Given the description of an element on the screen output the (x, y) to click on. 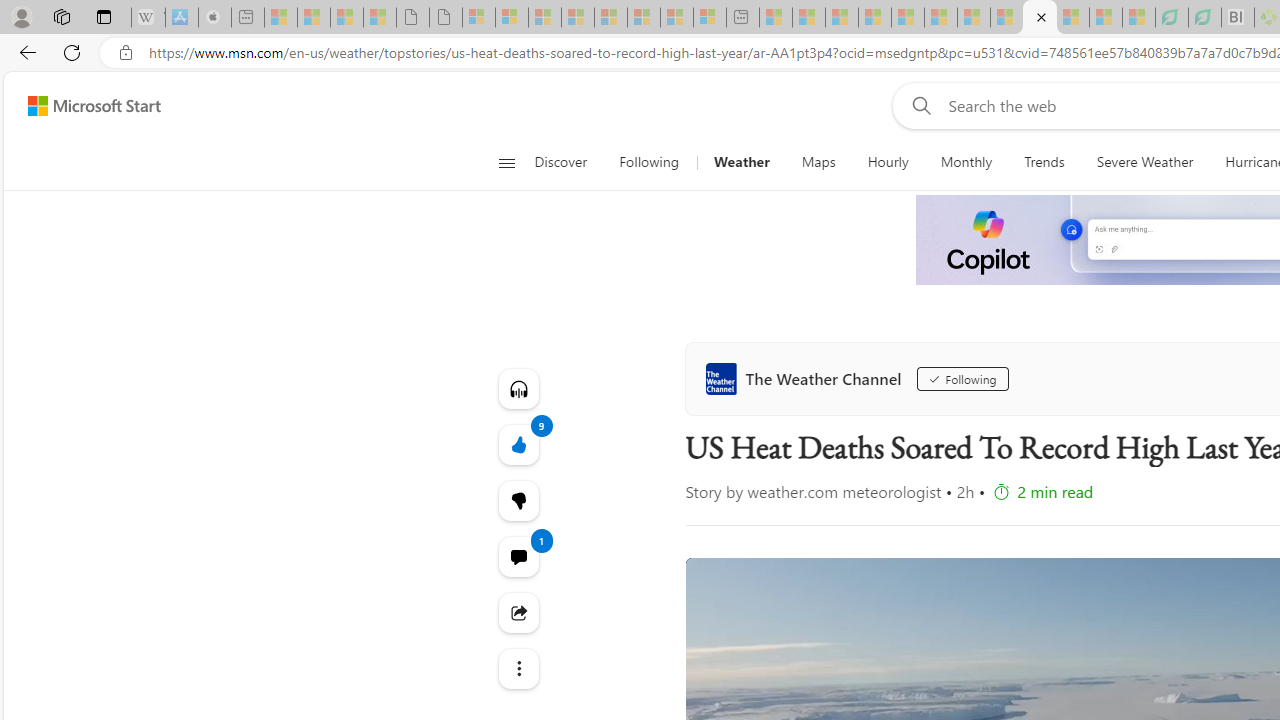
The Weather Channel (807, 378)
Top Stories - MSN - Sleeping (776, 17)
Monthly (966, 162)
US Heat Deaths Soared To Record High Last Year (1039, 17)
Weather (741, 162)
Marine life - MSN - Sleeping (808, 17)
